Given the description of an element on the screen output the (x, y) to click on. 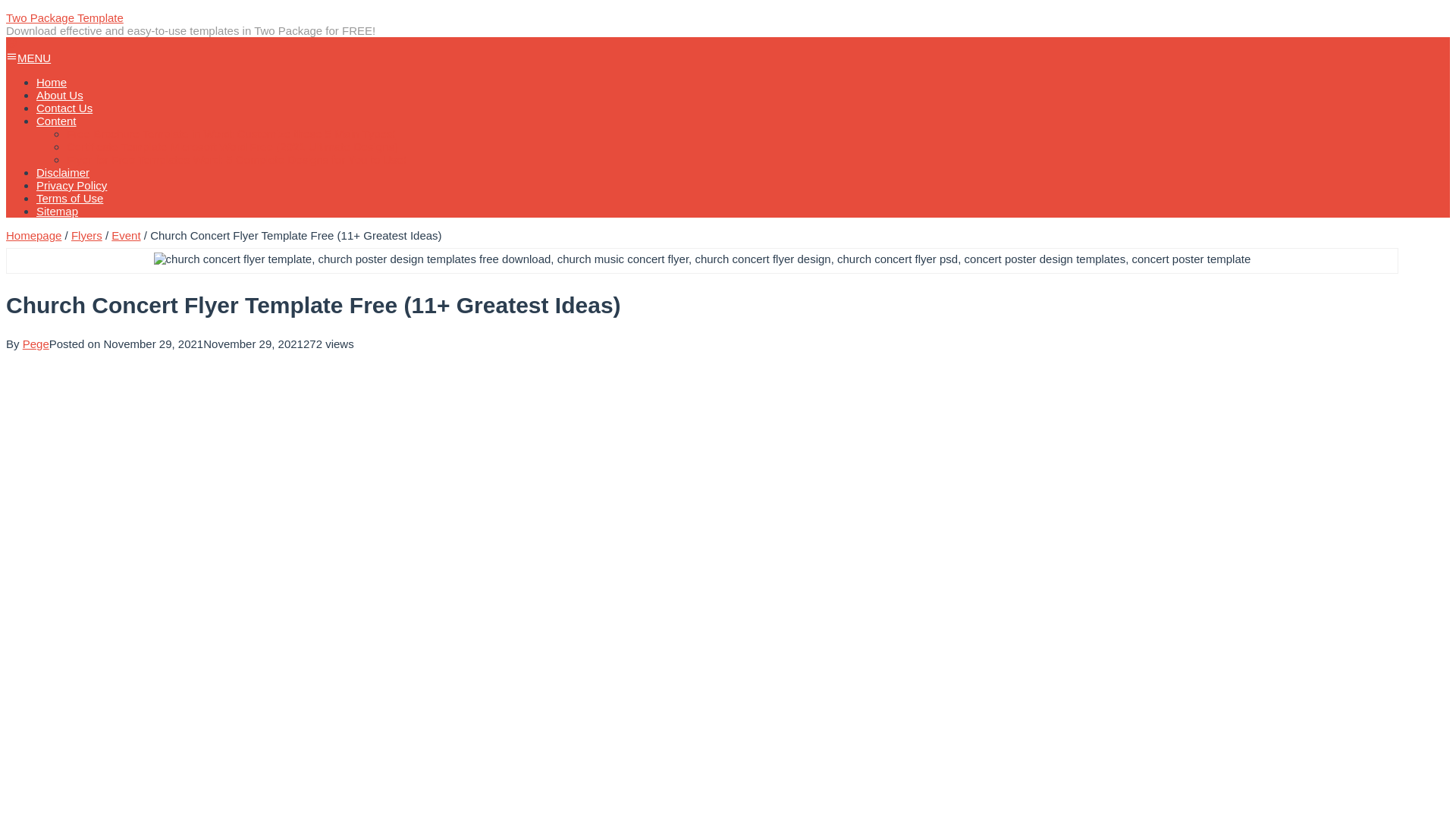
MENU (27, 57)
Sitemap (57, 210)
Two Package Template (64, 17)
Disclaimer (62, 172)
About Us (59, 94)
Terms of Use (69, 197)
Flyers (86, 235)
Event (125, 235)
Contact Us (64, 107)
Home (51, 82)
Privacy Policy (71, 185)
Content (56, 120)
